Given the description of an element on the screen output the (x, y) to click on. 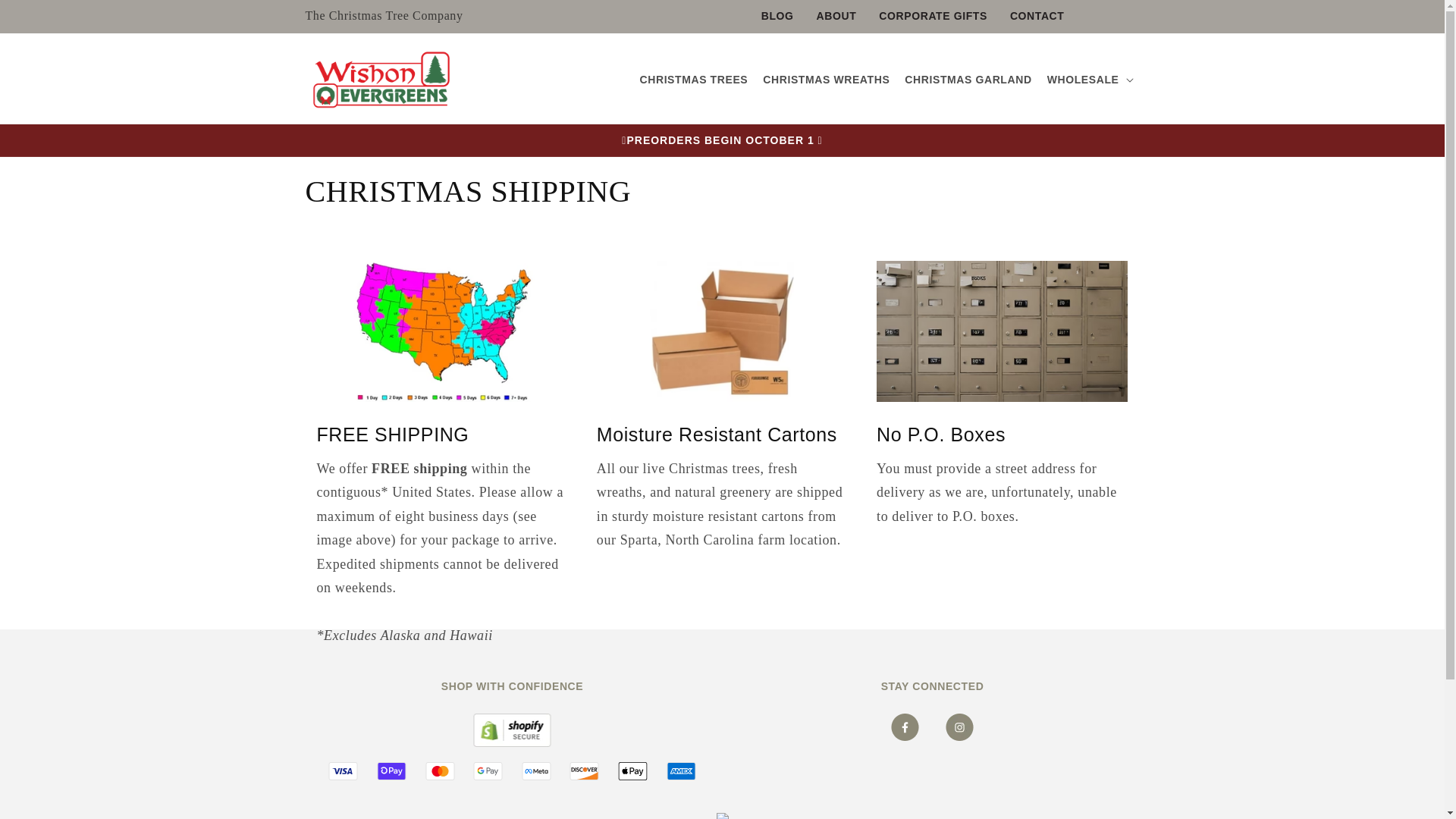
CHRISTMAS WREATHS (825, 79)
BLOG (777, 16)
ABOUT (836, 16)
CHRISTMAS GARLAND (967, 79)
Skip to content (45, 17)
Cart (1091, 16)
CHRISTMAS TREES (693, 79)
CONTACT (1036, 16)
CORPORATE GIFTS (932, 16)
